Given the description of an element on the screen output the (x, y) to click on. 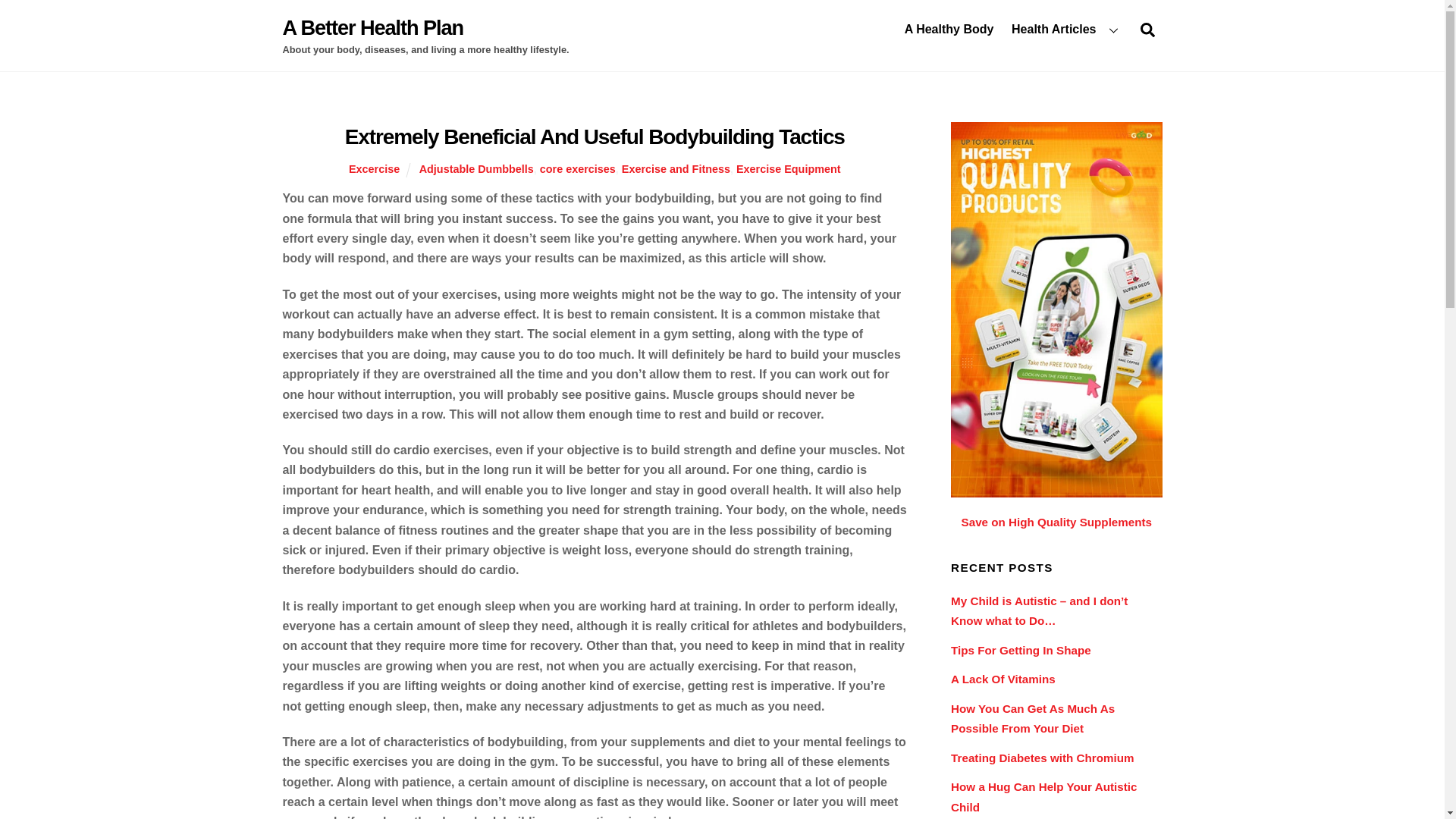
Excercise (373, 168)
Exercise and Fitness (675, 168)
Extremely Beneficial And Useful Bodybuilding Tactics (594, 136)
Health Articles (1066, 29)
A Better Health Plan (372, 27)
Search (721, 29)
A Healthy Body (1146, 29)
core exercises (948, 29)
A Better Health Plan (577, 168)
